Given the description of an element on the screen output the (x, y) to click on. 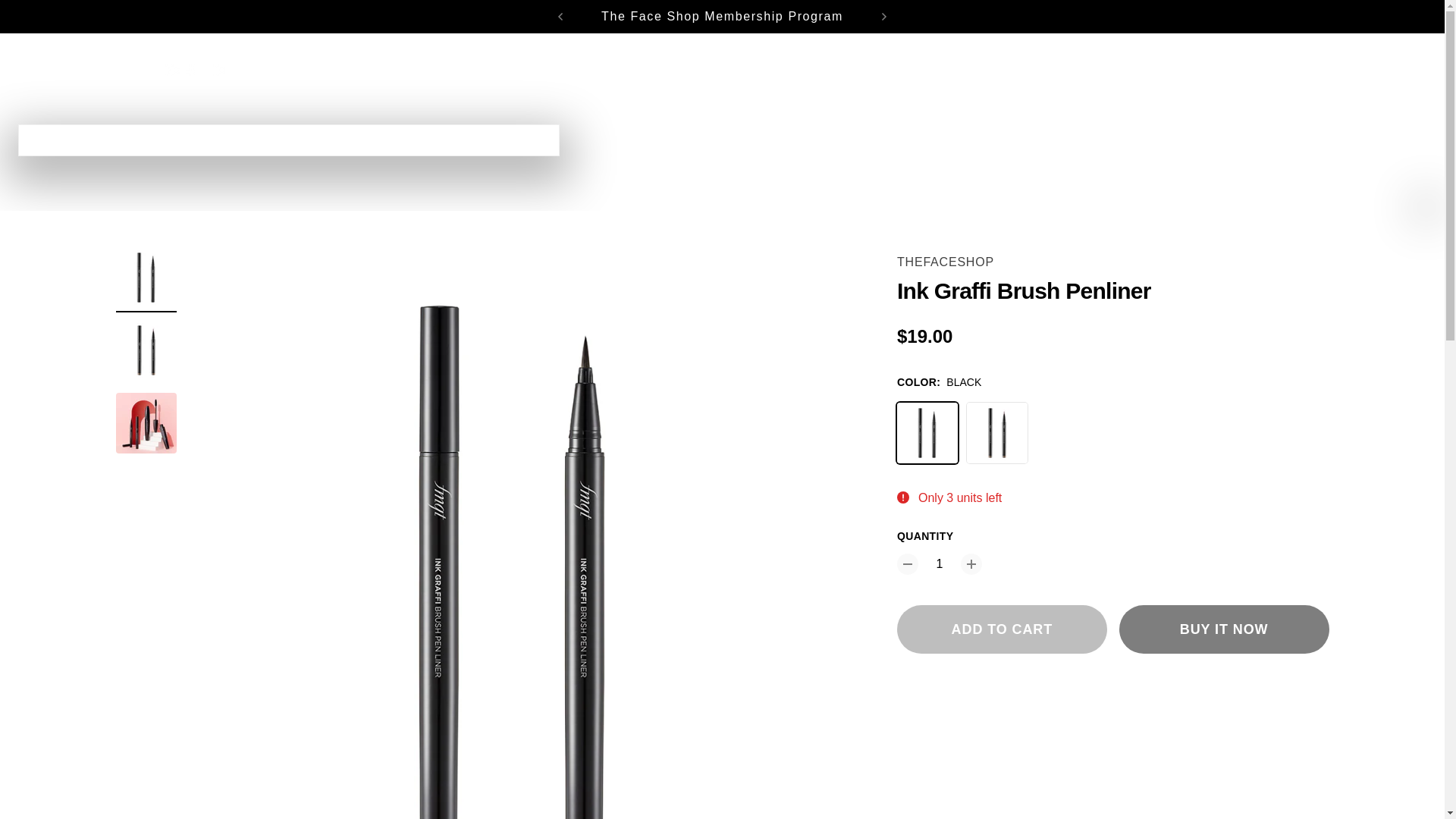
SKIN CARE (399, 69)
MASK (565, 69)
NEWS (799, 69)
MAKE UP (493, 69)
THEFACESHOP (945, 261)
The Face Shop Membership Program (722, 15)
Cart (1318, 69)
1 (939, 564)
About Us (862, 69)
FOR MEN (734, 69)
CLEANSER (306, 69)
BODY CARE (644, 69)
Search (1284, 69)
